Given the description of an element on the screen output the (x, y) to click on. 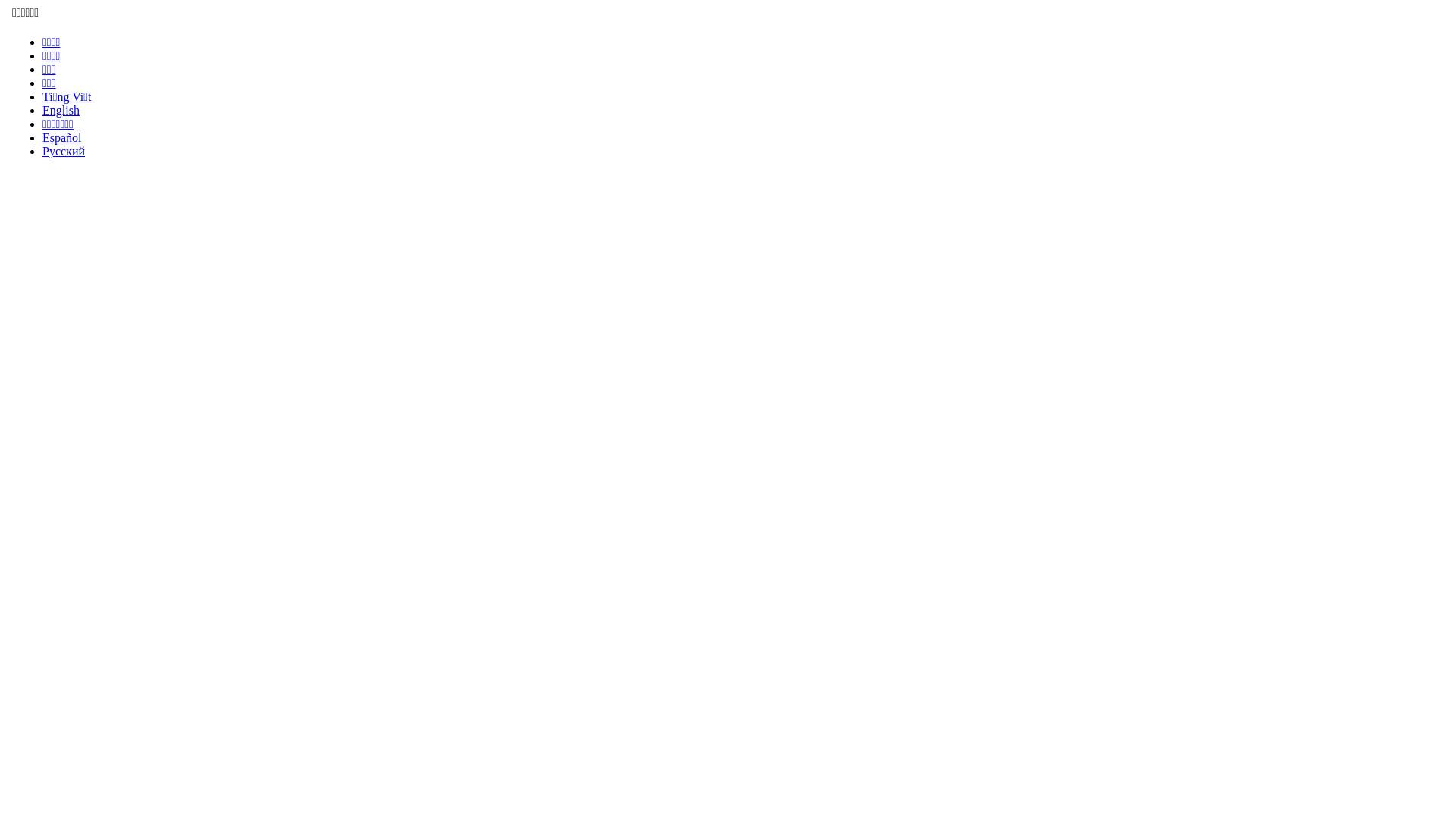
English Element type: text (60, 109)
